Given the description of an element on the screen output the (x, y) to click on. 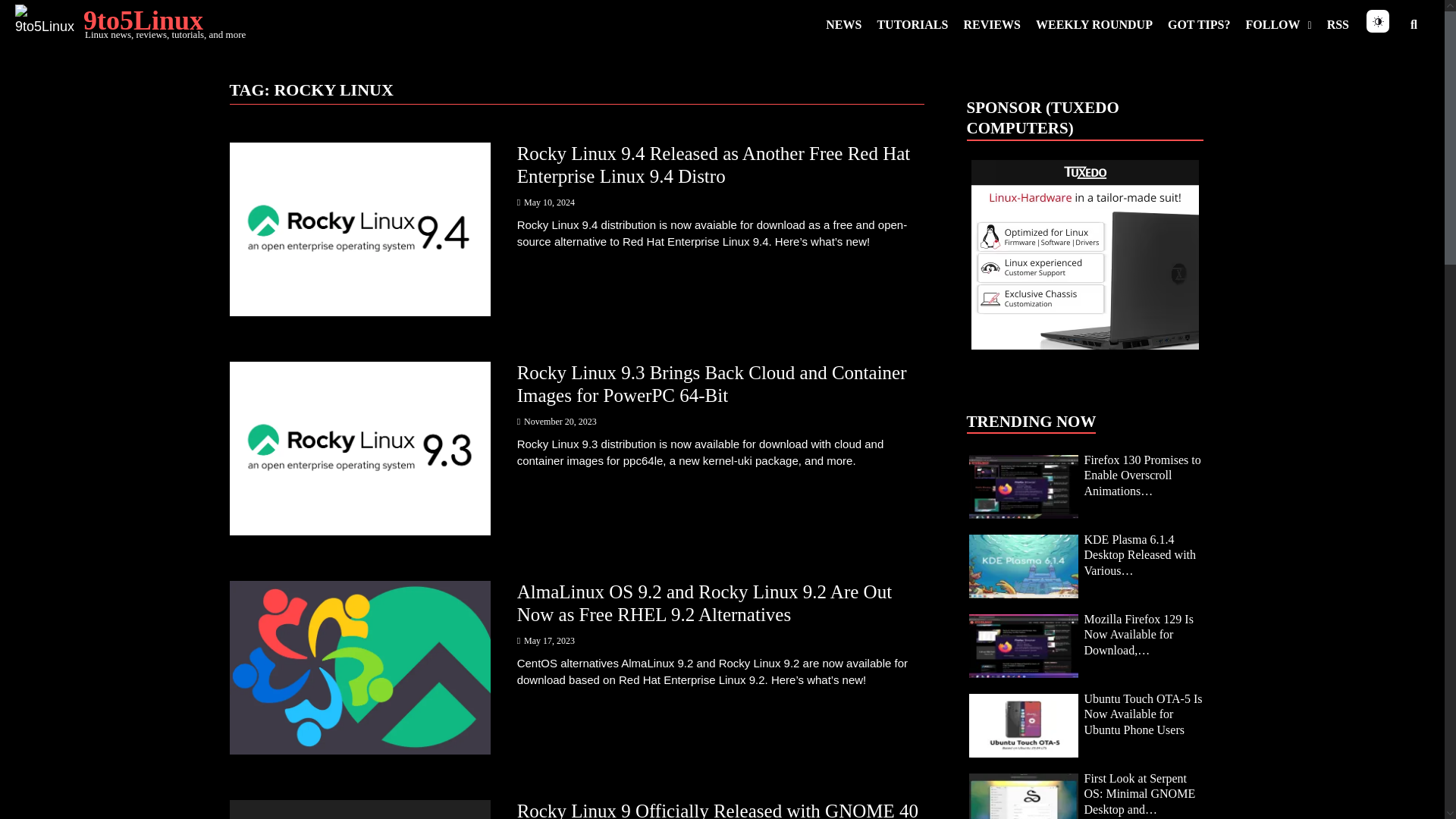
REVIEWS (991, 24)
Ubuntu Touch OTA-5 Is Now Available for Ubuntu Phone Users (1023, 725)
NEWS (843, 24)
GOT TIPS? (1199, 24)
TUTORIALS (912, 24)
FOLLOW (1278, 24)
Linux-powered laptops by TUXEDO Computers (1084, 254)
WEEKLY ROUNDUP (1093, 24)
9to5Linux (142, 20)
